Given the description of an element on the screen output the (x, y) to click on. 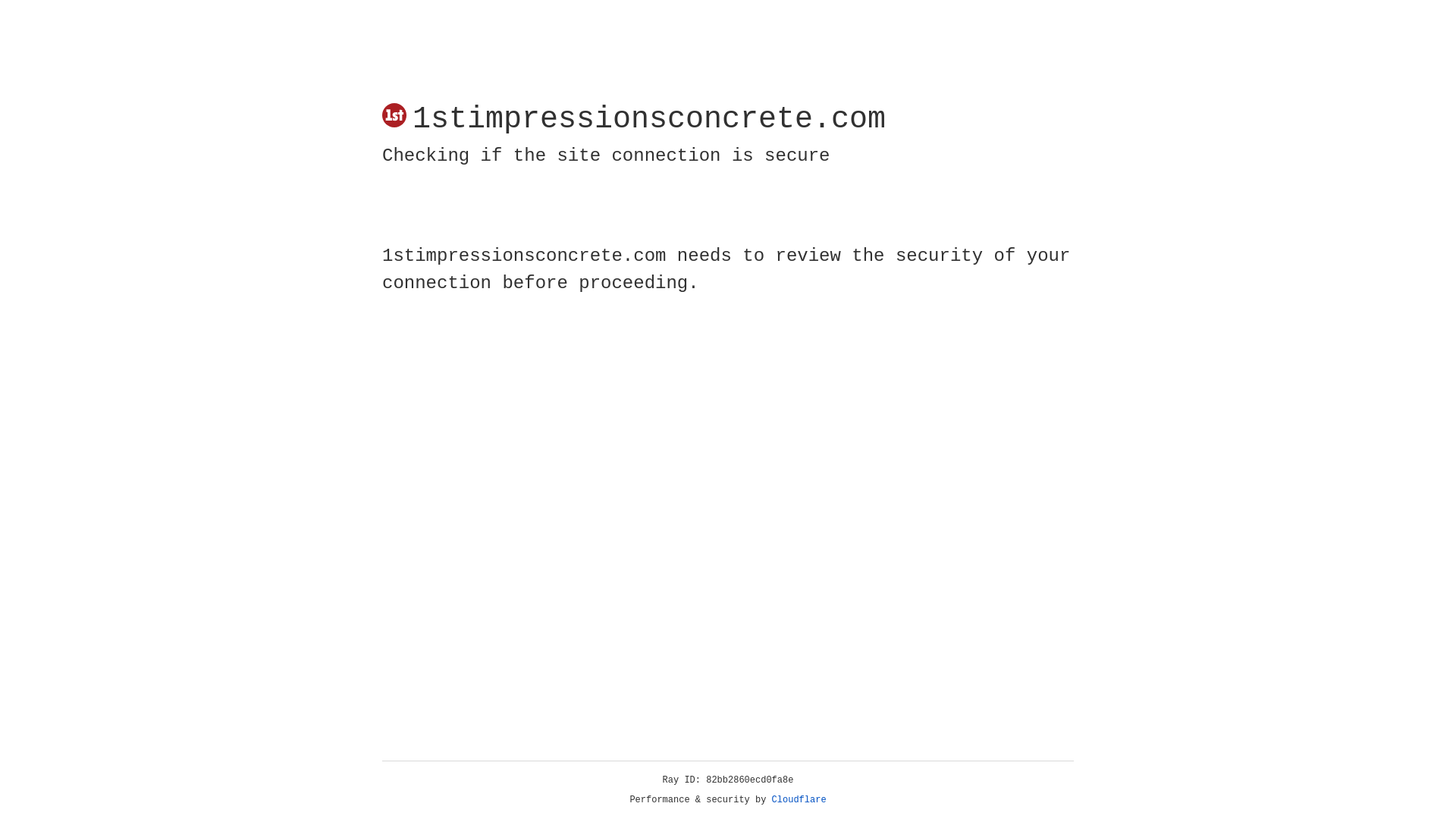
Cloudflare Element type: text (798, 799)
